Given the description of an element on the screen output the (x, y) to click on. 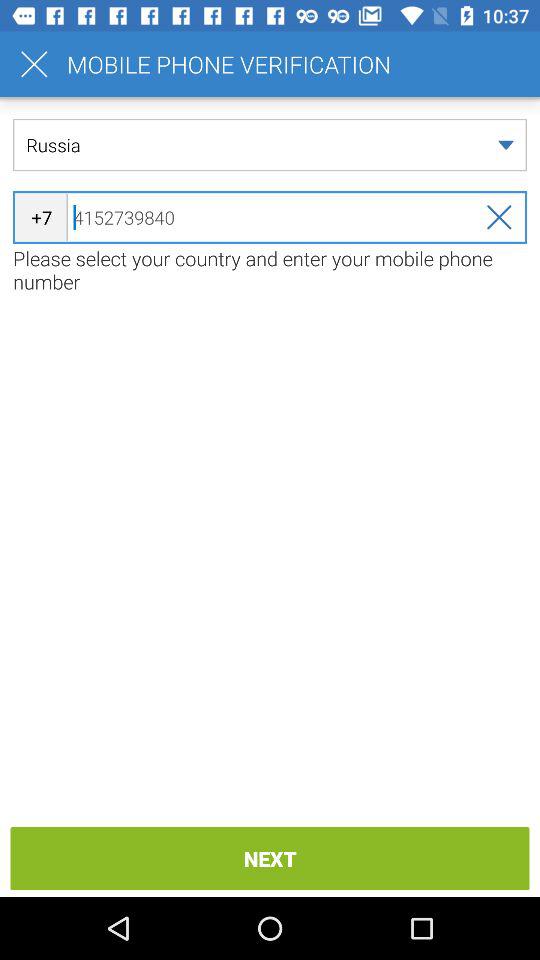
launch please select your icon (269, 270)
